Given the description of an element on the screen output the (x, y) to click on. 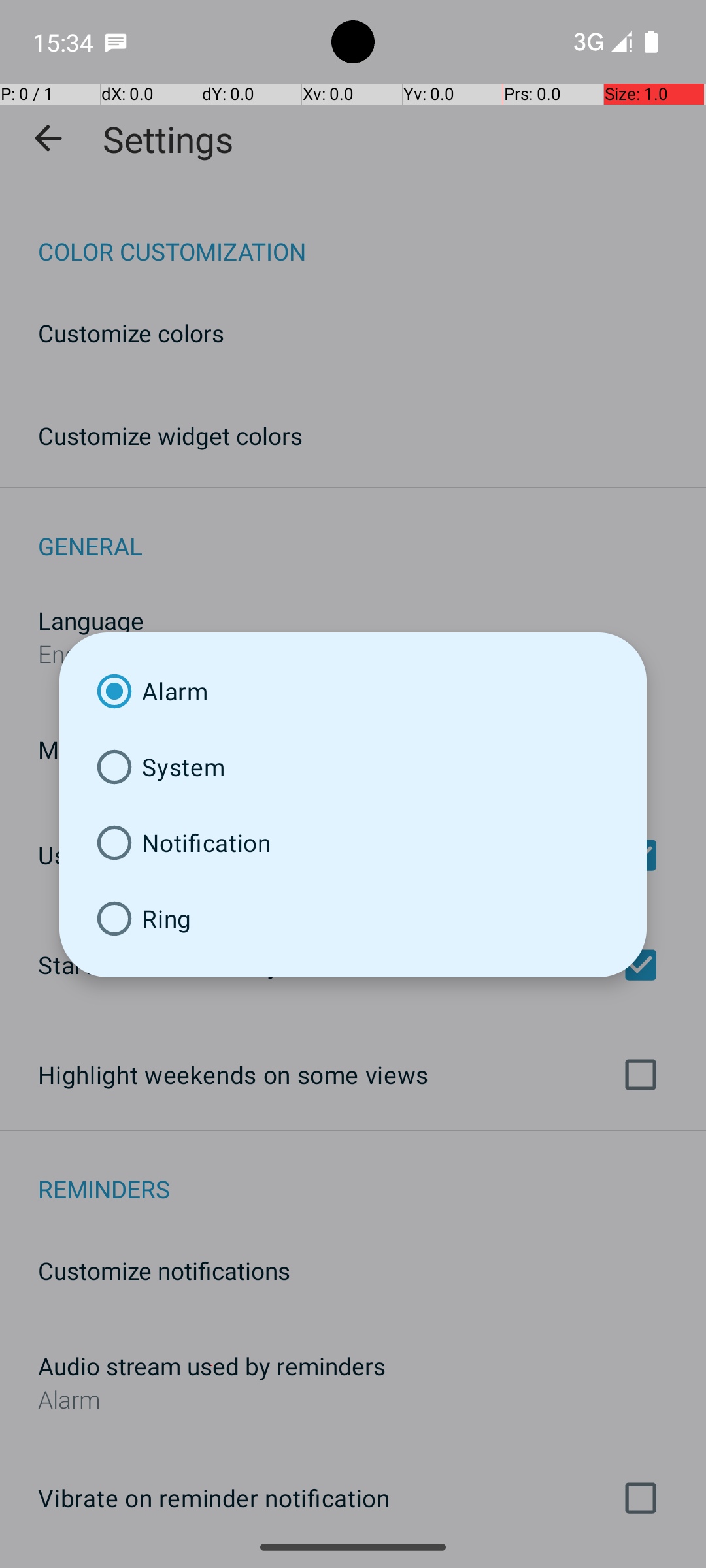
System Element type: android.widget.RadioButton (352, 766)
Ring Element type: android.widget.RadioButton (352, 918)
